Given the description of an element on the screen output the (x, y) to click on. 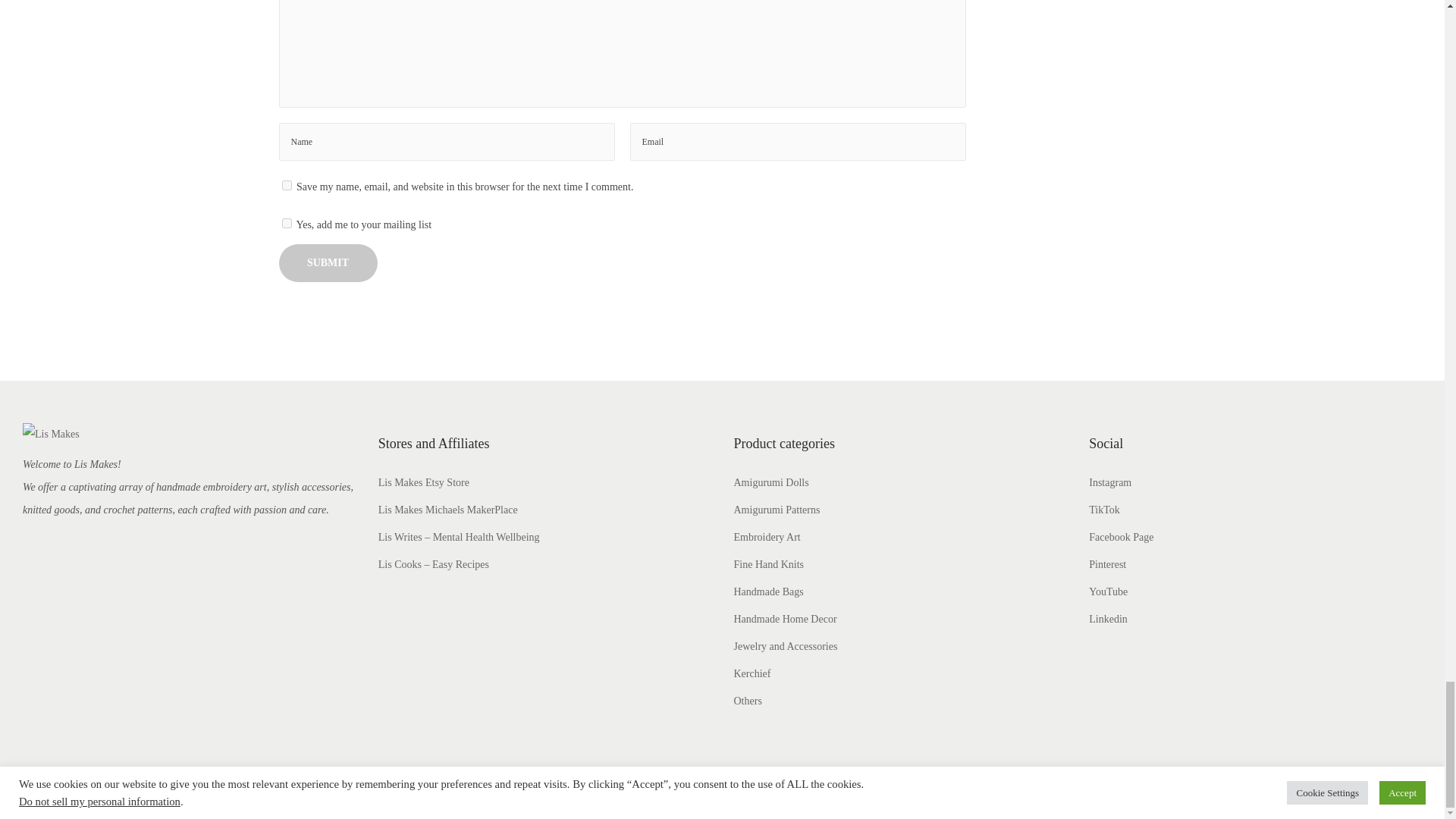
Submit (328, 262)
yes (287, 185)
1 (287, 223)
